Given the description of an element on the screen output the (x, y) to click on. 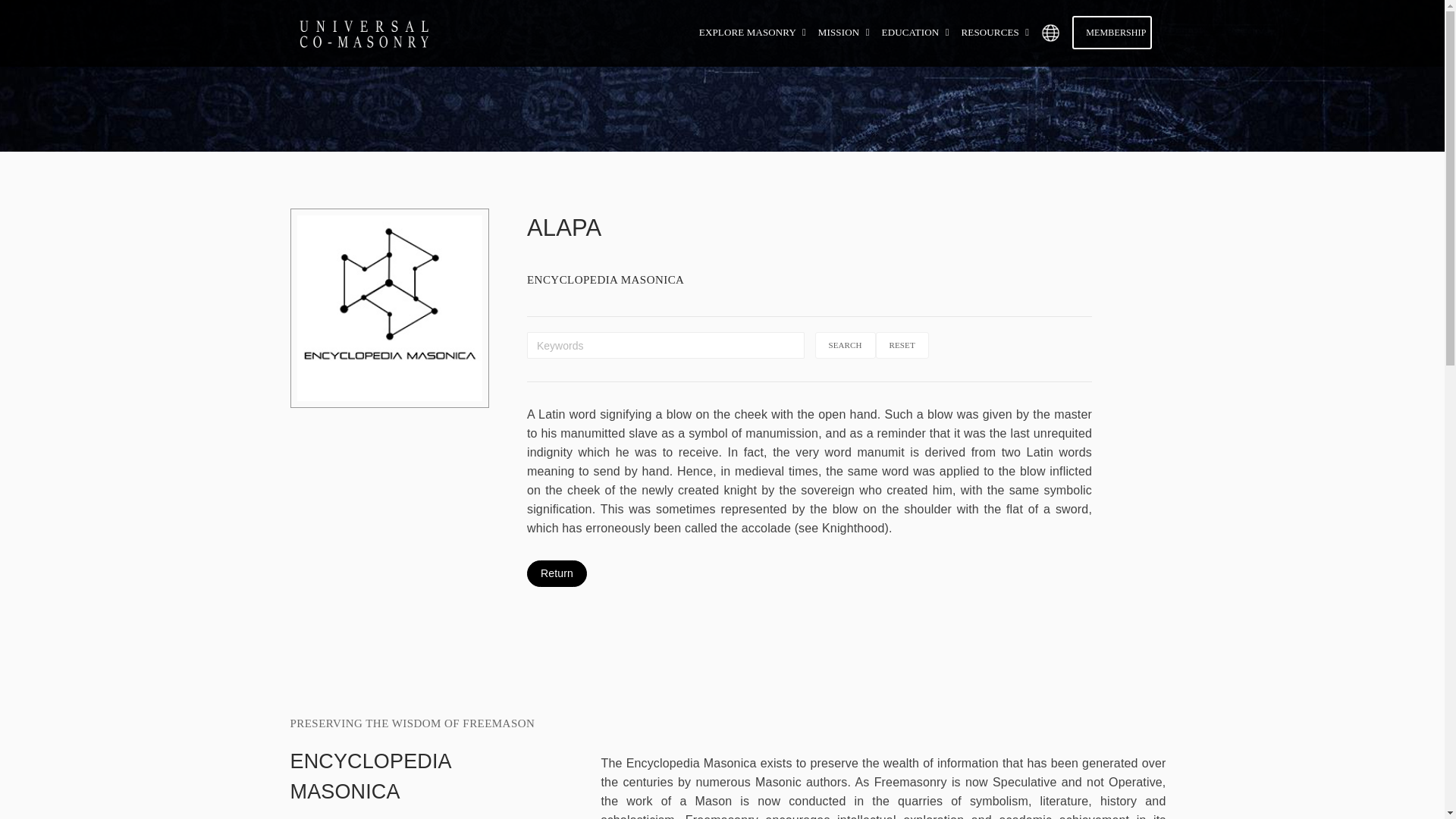
Discover Freemasonry (753, 32)
MISSION (845, 32)
Search (844, 345)
EXPLORE MASONRY (753, 32)
EDUCATION (917, 32)
Reset (902, 345)
Mission (845, 32)
